Given the description of an element on the screen output the (x, y) to click on. 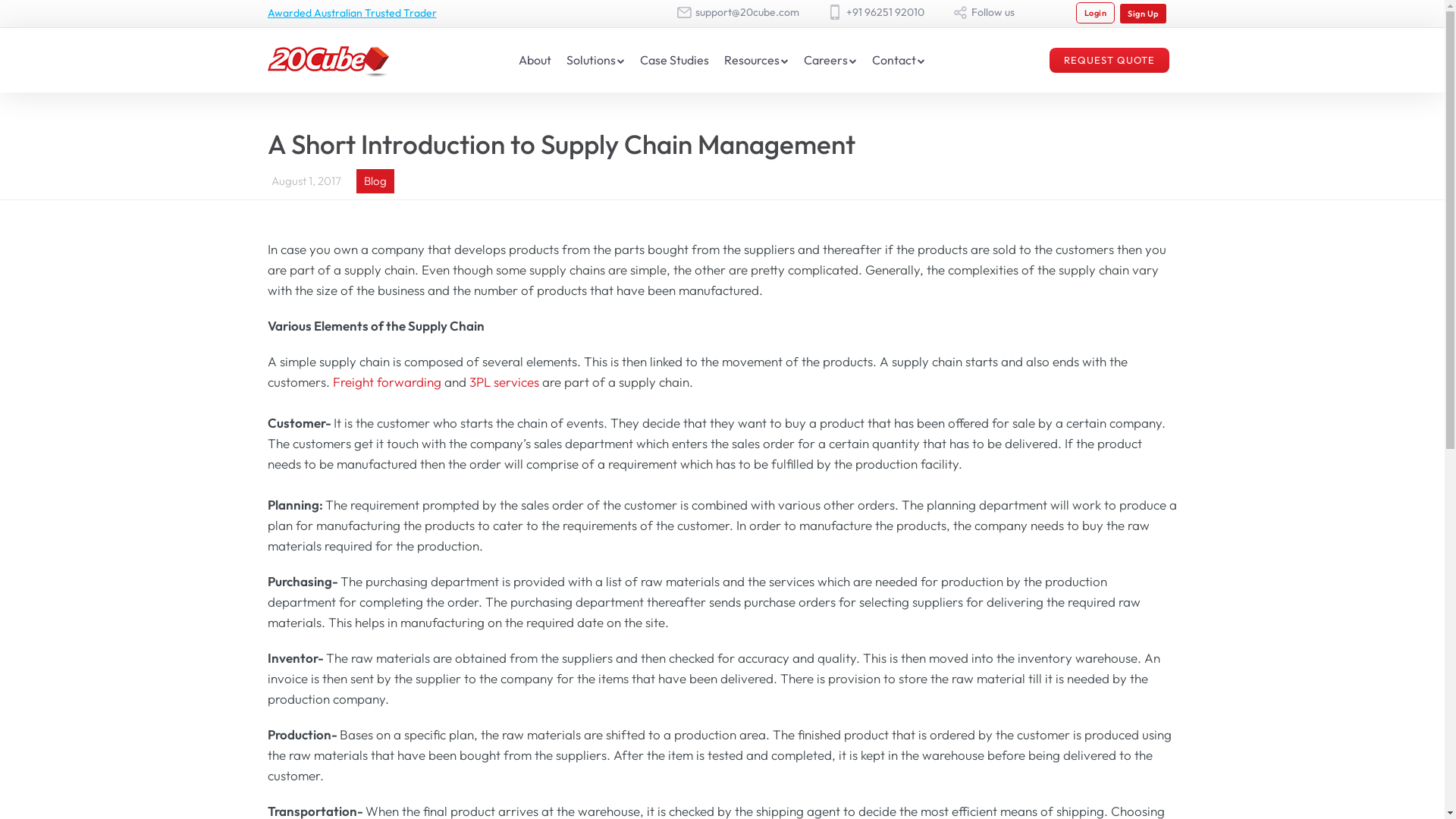
Freight forwarding Element type: text (386, 381)
Follow us Element type: text (992, 12)
support@20cube.com Element type: text (747, 12)
+91 96251 92010 Element type: text (885, 12)
About Element type: text (534, 60)
REQUEST QUOTE Element type: text (1109, 59)
Sign Up Element type: text (1142, 13)
Login Element type: text (1095, 12)
Awarded Australian Trusted Trader Element type: text (351, 12)
Solutions Element type: text (590, 60)
Resources Element type: text (751, 60)
20Cube Logo Element type: hover (327, 60)
Contact Element type: text (894, 60)
Careers Element type: text (825, 60)
3PL services Element type: text (503, 381)
Blog Element type: text (375, 180)
Case Studies Element type: text (674, 60)
